Given the description of an element on the screen output the (x, y) to click on. 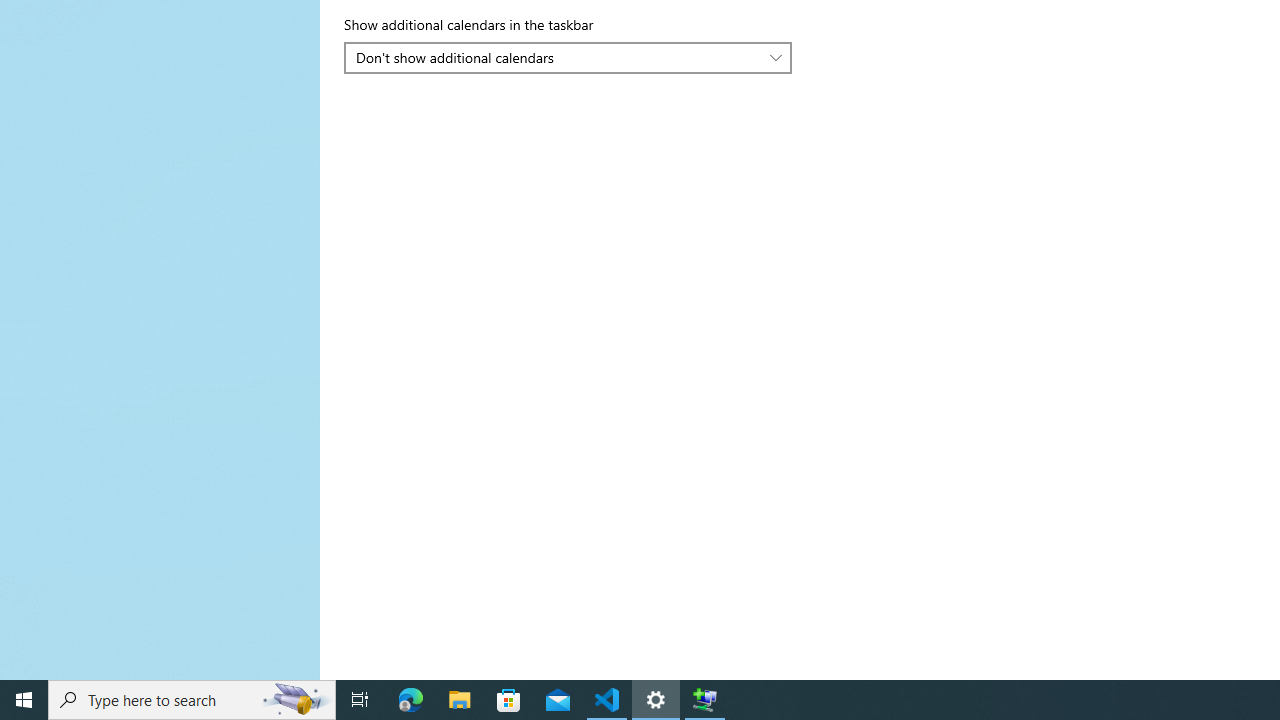
Don't show additional calendars (557, 57)
Show additional calendars in the taskbar (568, 57)
Extensible Wizards Host Process - 1 running window (704, 699)
